Given the description of an element on the screen output the (x, y) to click on. 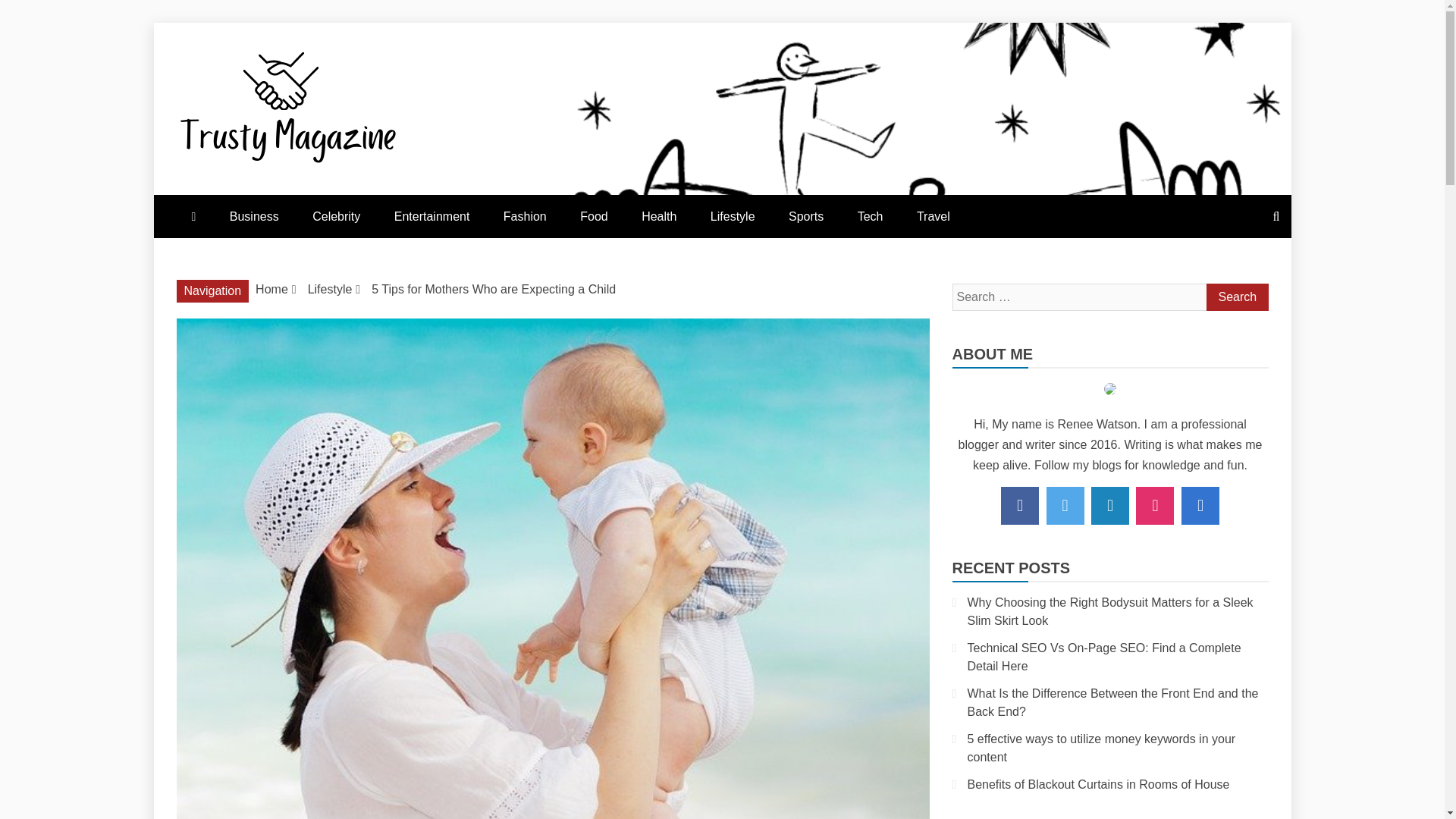
Home (272, 288)
Celebrity (336, 216)
Tech (870, 216)
Fashion (524, 216)
Lifestyle (329, 288)
Health (658, 216)
Lifestyle (732, 216)
Food (593, 216)
Search (1236, 297)
